Given the description of an element on the screen output the (x, y) to click on. 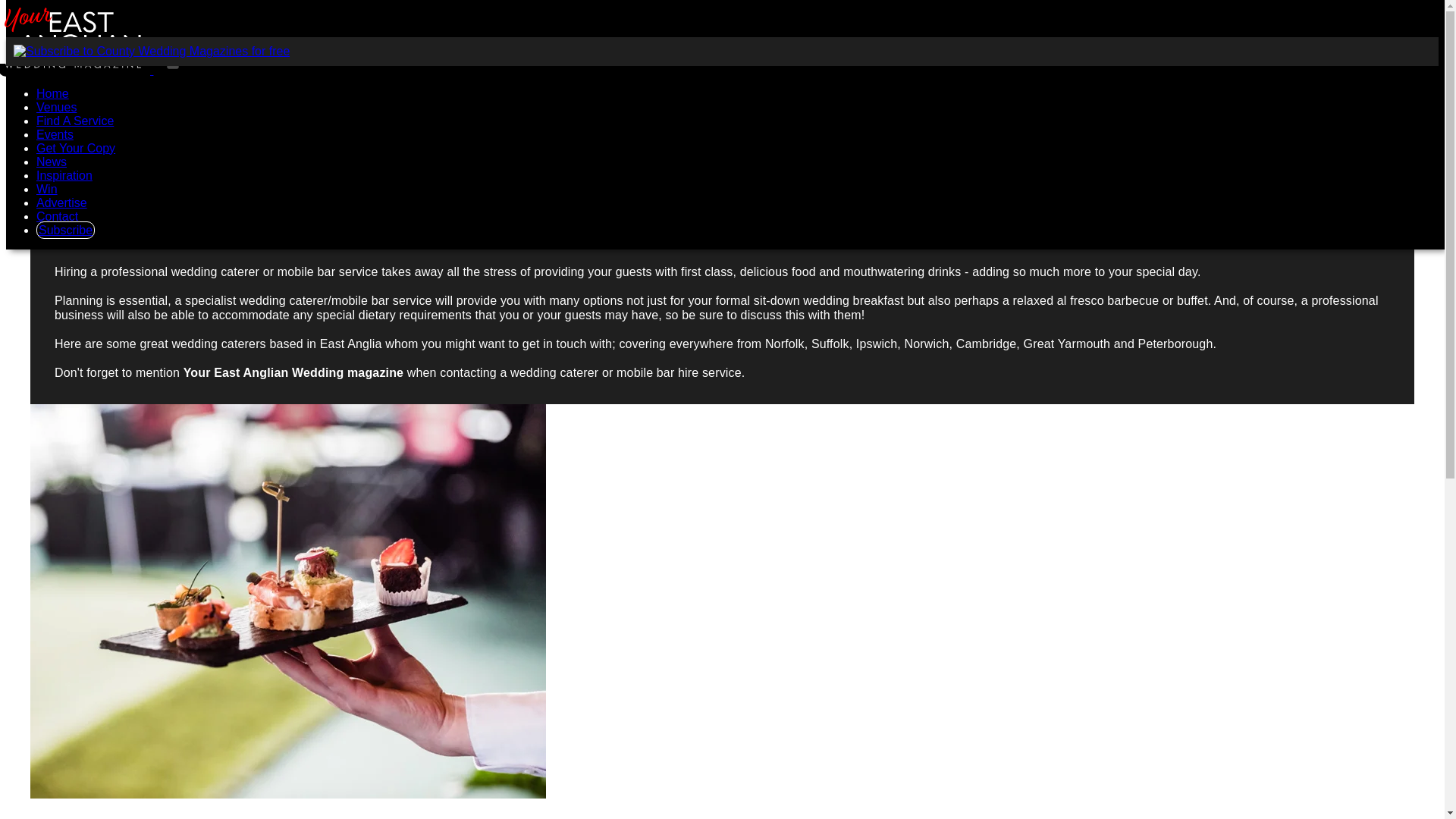
Be inspired by Your East Anglian Wedding magazine (64, 174)
Events (55, 133)
Get Your Copy (75, 147)
Contact (57, 215)
Advertise with Your East Anglian Wedding magazine (61, 202)
Subscribe to Your East Anglian Wedding magazine for free (65, 230)
Win (47, 188)
Upcoming wedding fayres, shows and events (55, 133)
